Given the description of an element on the screen output the (x, y) to click on. 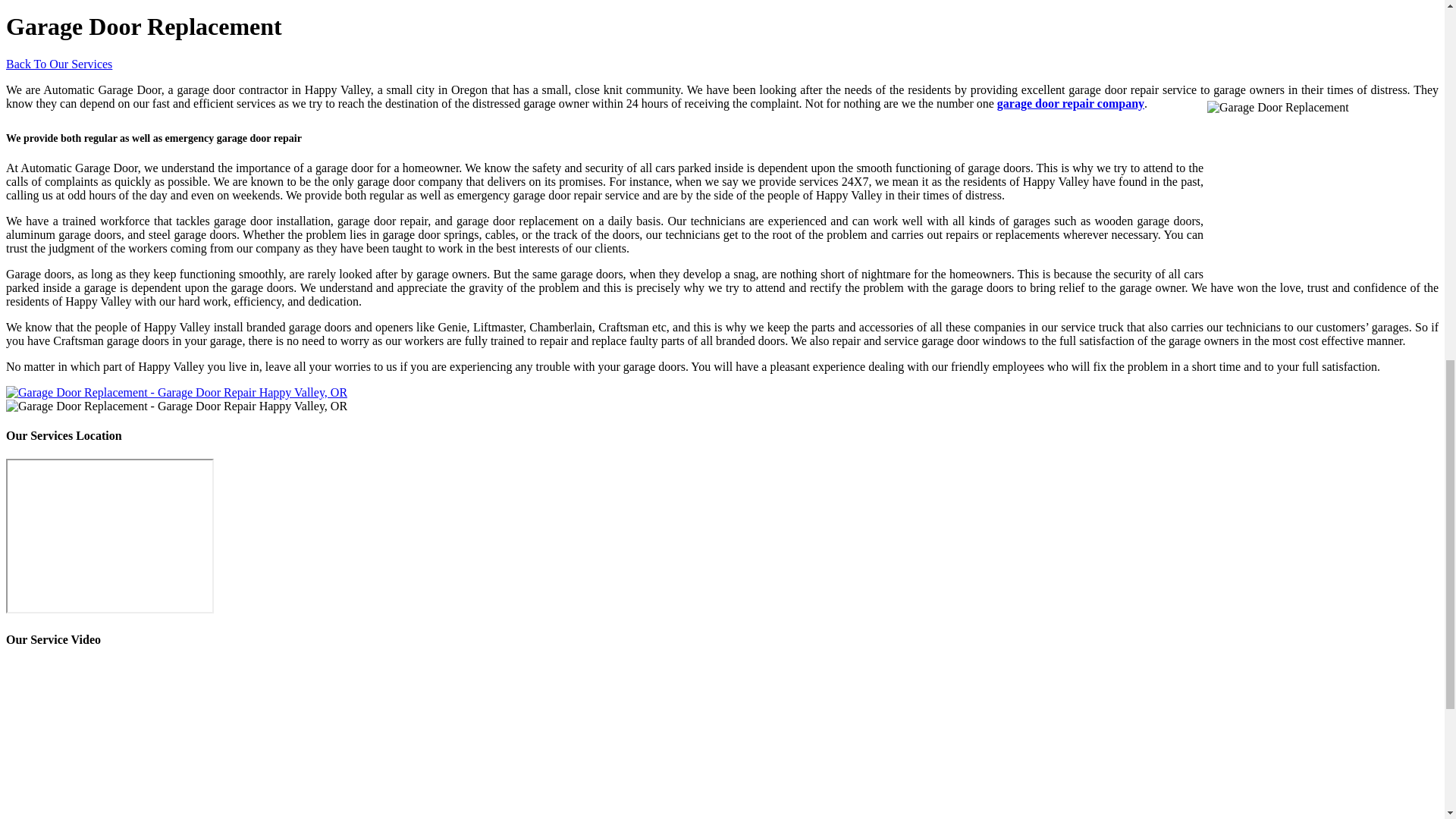
garage door repair company (1070, 103)
Back To Our Services (58, 63)
Banner (176, 391)
